Given the description of an element on the screen output the (x, y) to click on. 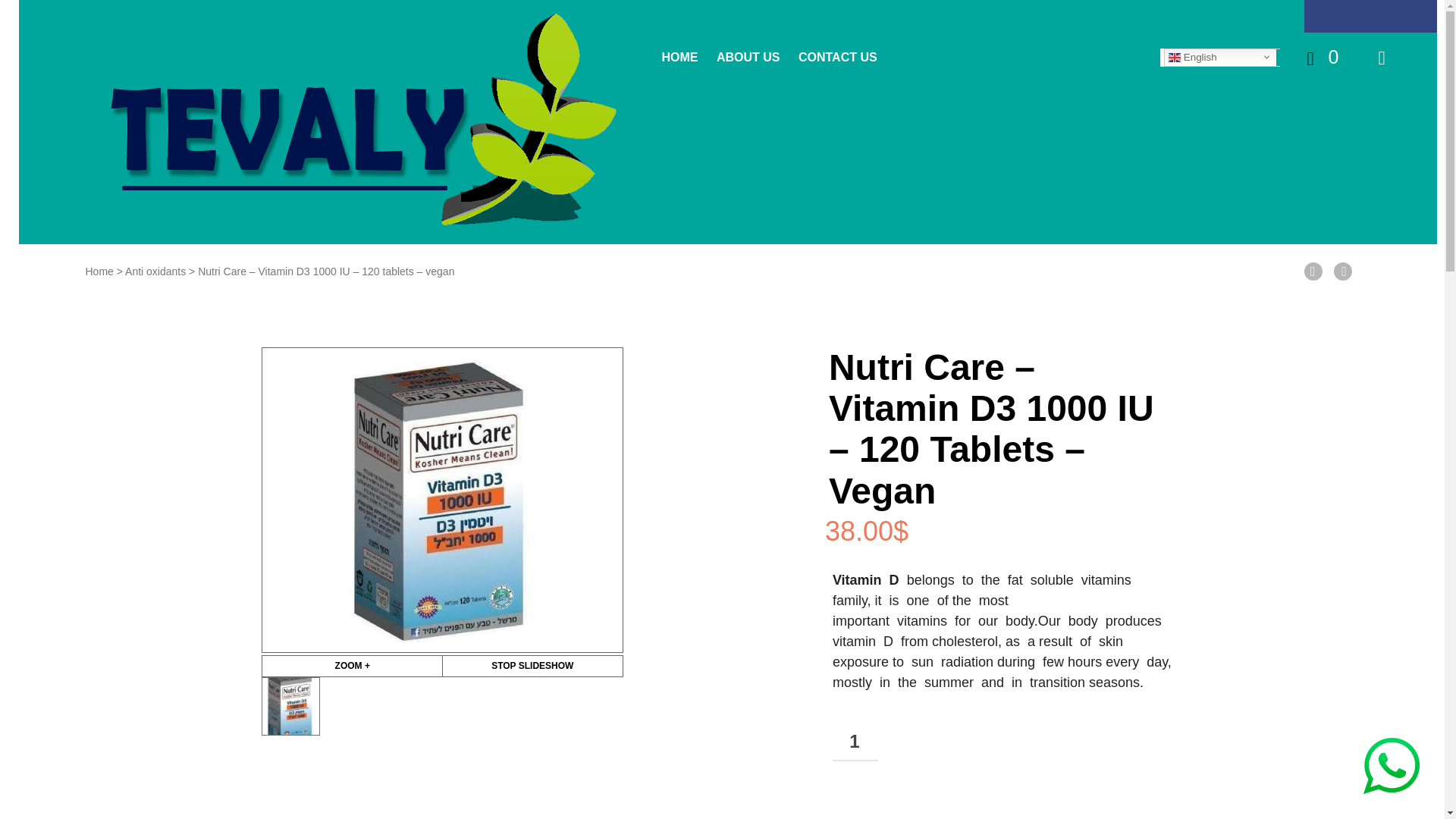
English (1225, 57)
1 (854, 742)
